Given the description of an element on the screen output the (x, y) to click on. 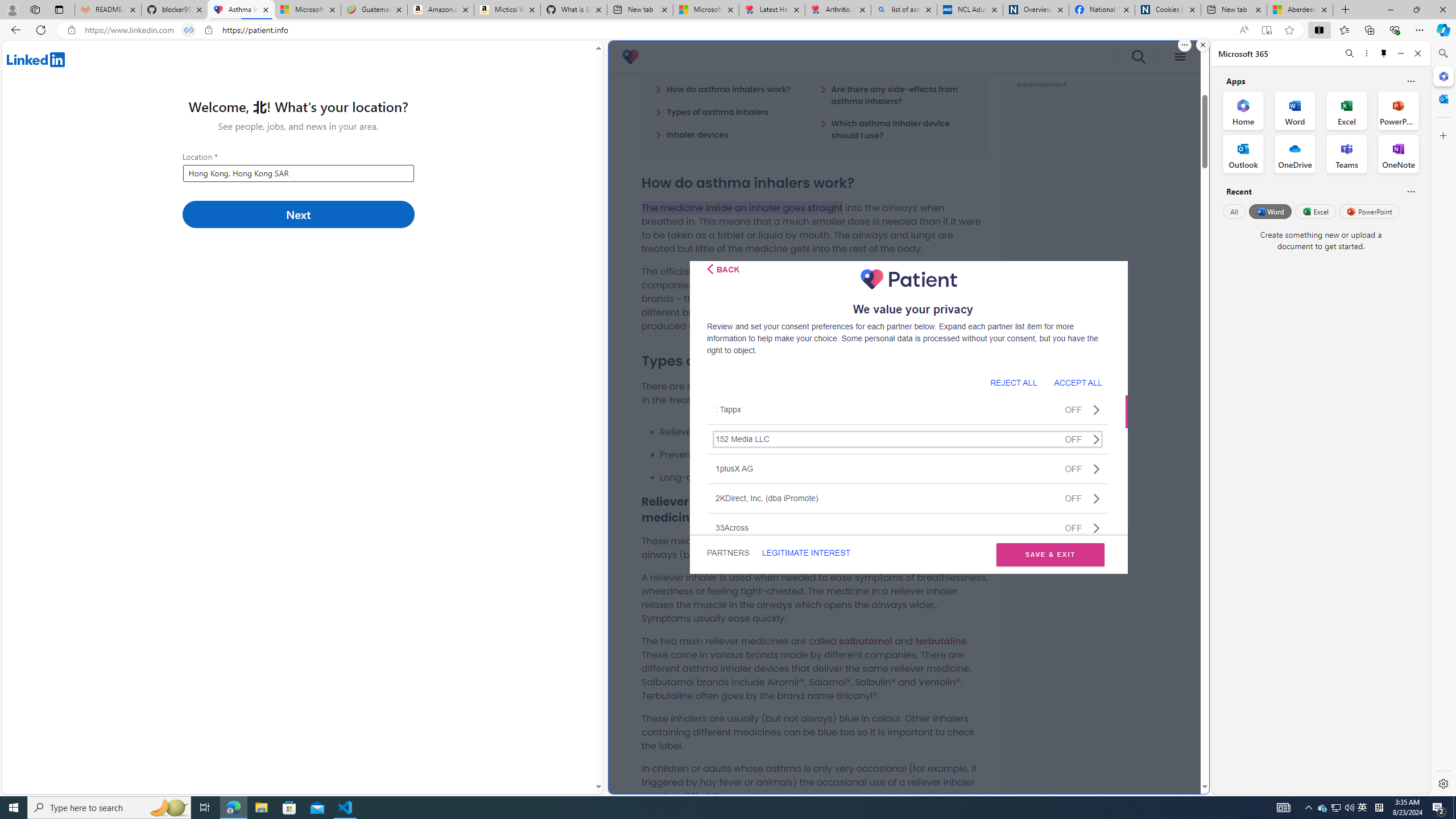
terbutaline (940, 640)
How do asthma inhalers work? (722, 88)
1plusX AGOFF (907, 468)
PowerPoint (1369, 210)
Relievers (short-acting bronchodilators). (823, 431)
search (1138, 56)
Arthritis: Ask Health Professionals (838, 9)
Close tab (1324, 9)
list of asthma inhalers uk - Search (904, 9)
Word Office App (1295, 110)
Home Office App (1243, 110)
More options. (1183, 45)
